Given the description of an element on the screen output the (x, y) to click on. 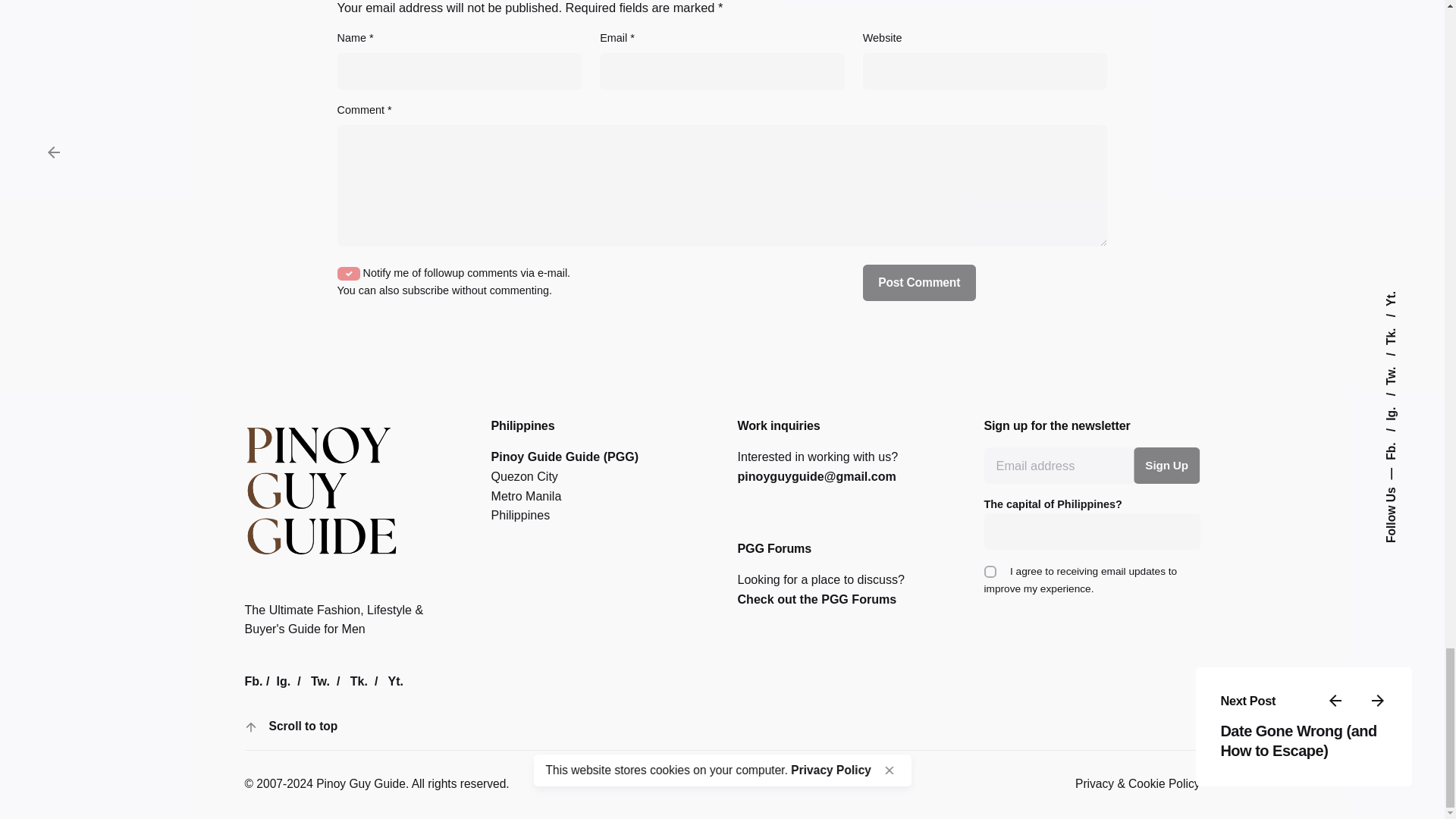
Scroll to top (302, 726)
yes (348, 273)
Sign Up (1166, 465)
Scroll to top (284, 726)
Post Comment (919, 282)
I agree to receiving email updates to improve my experience. (989, 571)
